Given the description of an element on the screen output the (x, y) to click on. 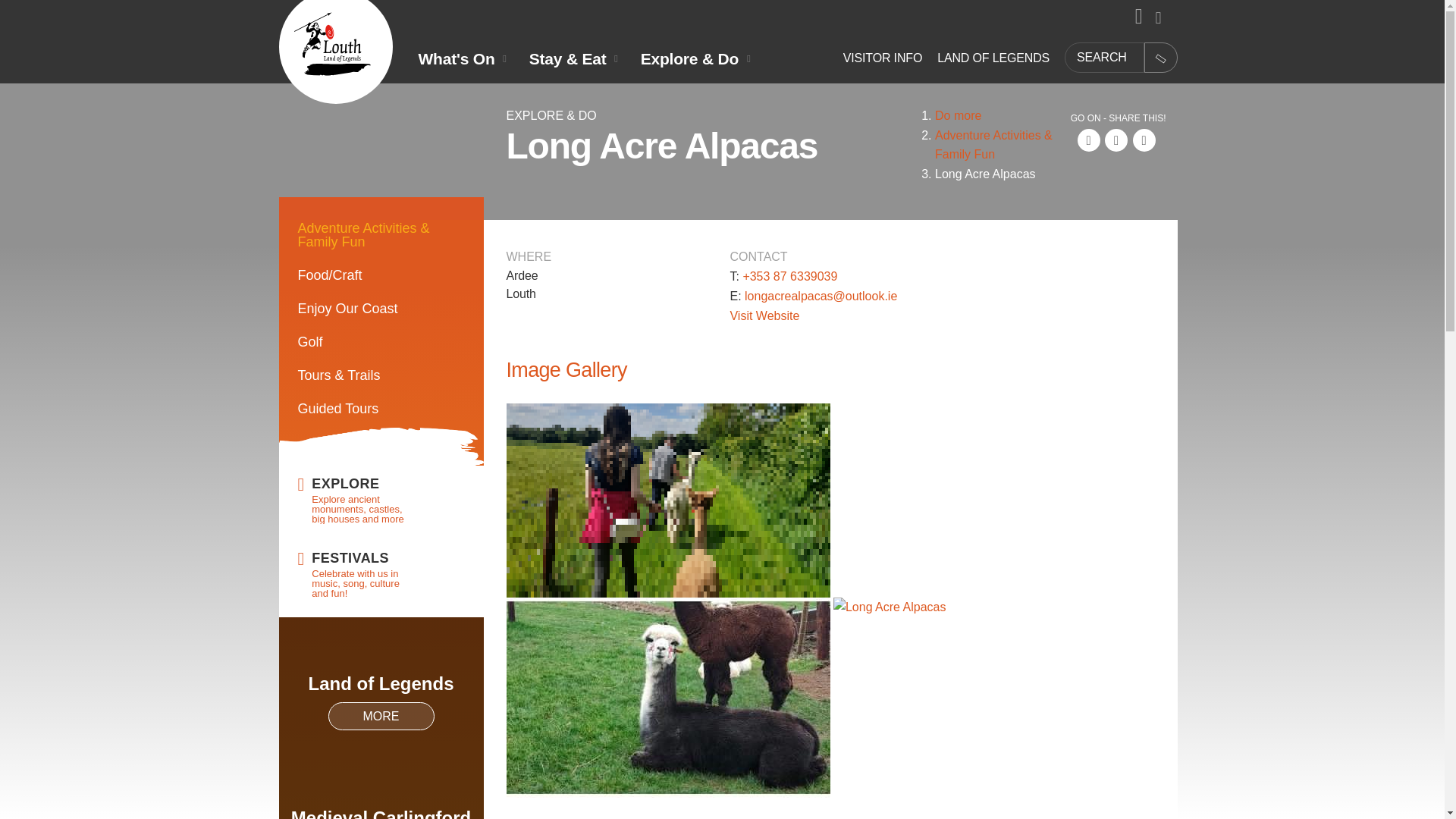
VISITOR INFO (882, 57)
What's On (462, 58)
LAND OF LEGENDS (993, 57)
